Given the description of an element on the screen output the (x, y) to click on. 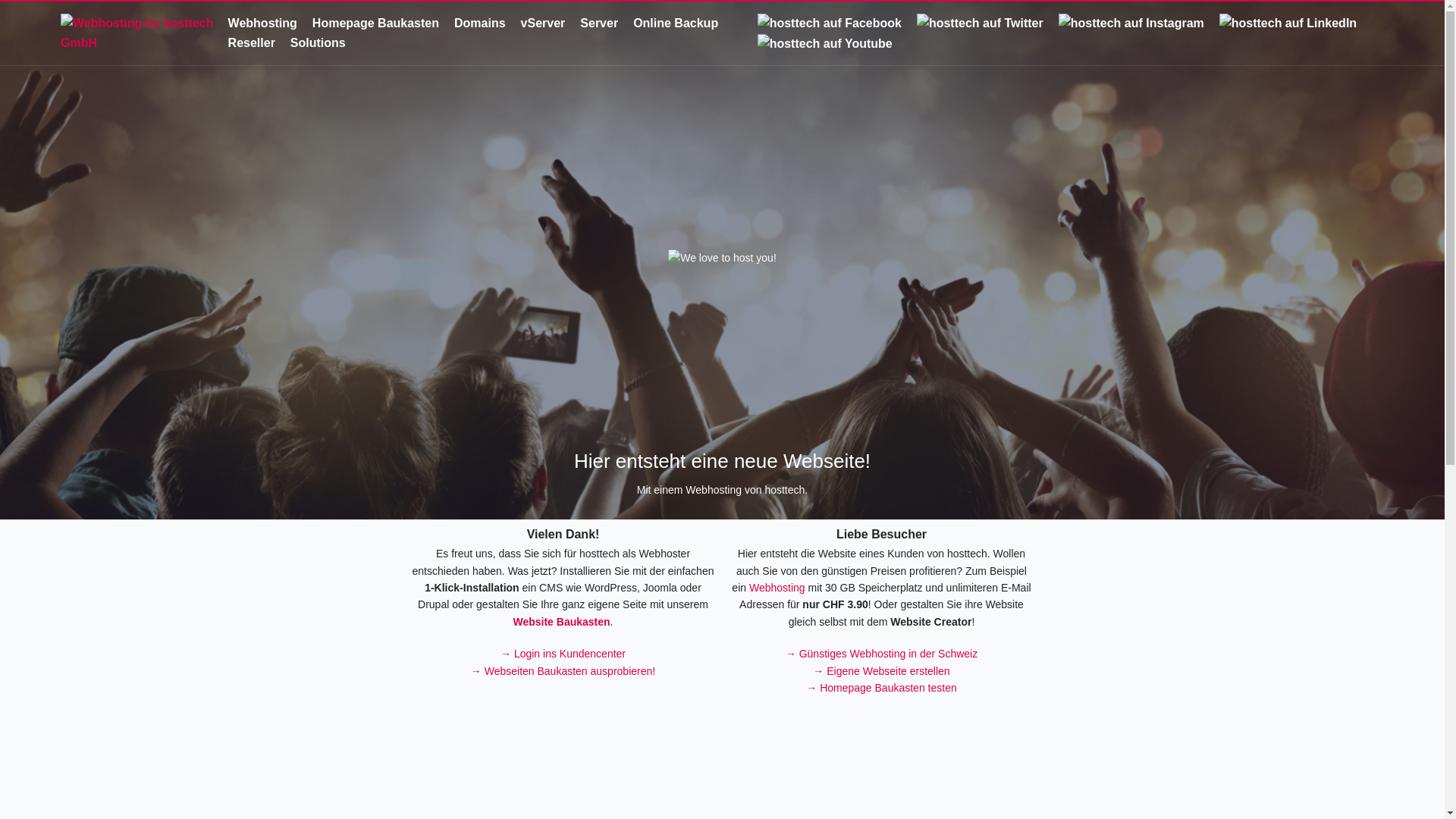
Server Element type: text (599, 22)
Website Baukasten Element type: text (560, 621)
Webhosting Element type: text (262, 22)
Webhosting Element type: text (777, 587)
Domains Element type: text (479, 22)
vServer Element type: text (542, 22)
Solutions Element type: text (317, 42)
Reseller Element type: text (251, 42)
Homepage Baukasten Element type: text (375, 22)
Online Backup Element type: text (675, 22)
